Given the description of an element on the screen output the (x, y) to click on. 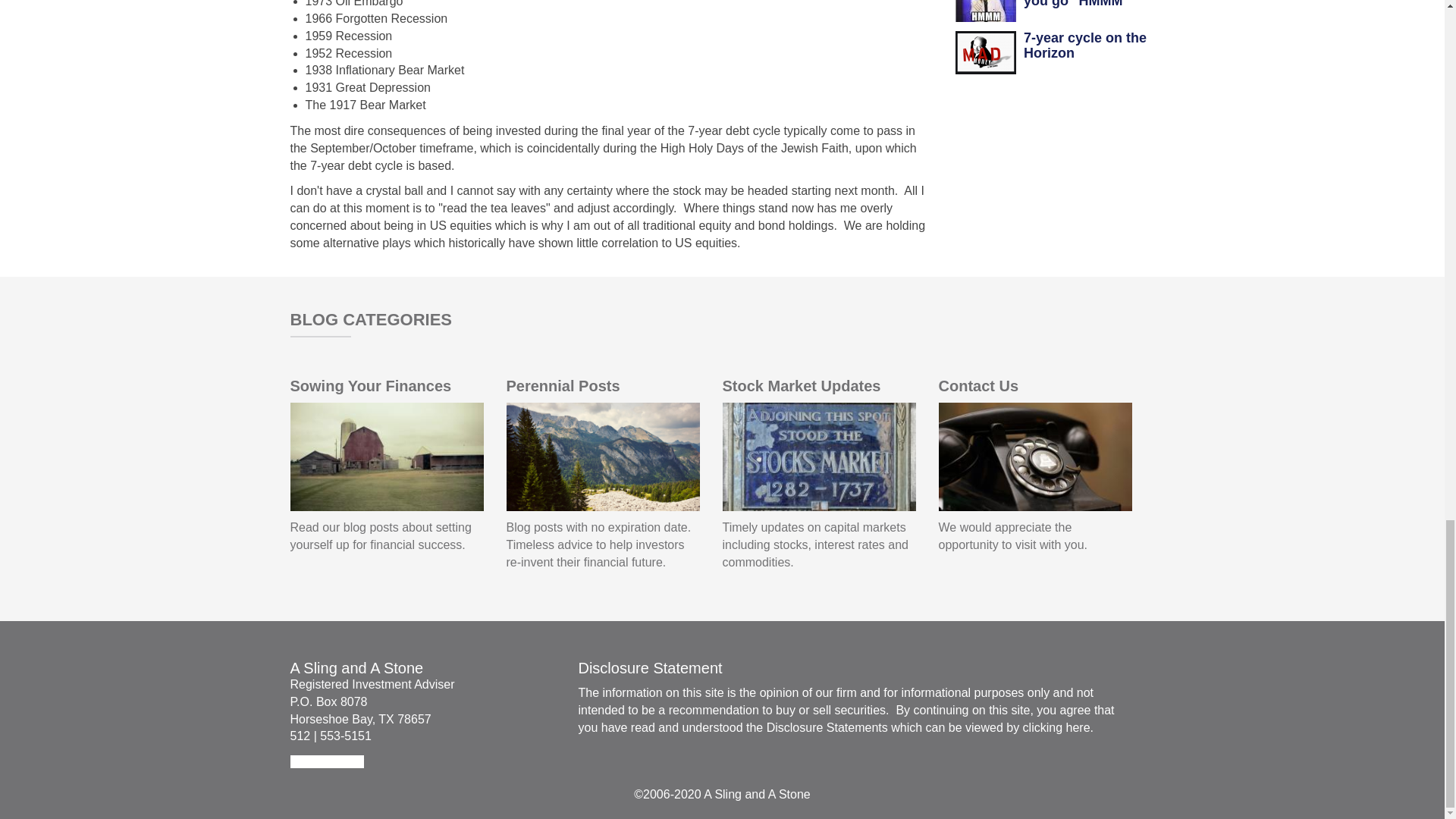
farm1 pic (386, 456)
Old-timey stock market sign (818, 456)
Evergreen trees with mountain background (603, 456)
